Given the description of an element on the screen output the (x, y) to click on. 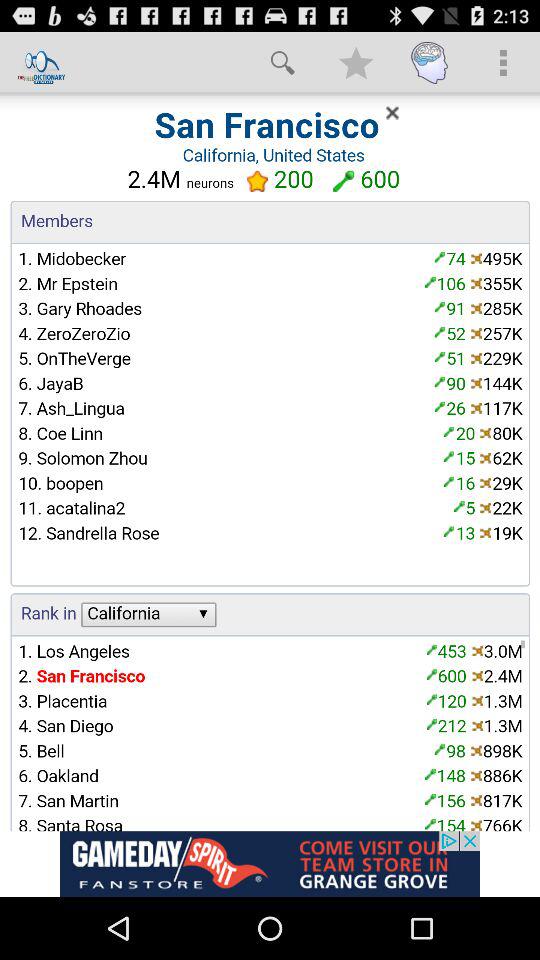
select all (270, 462)
